Given the description of an element on the screen output the (x, y) to click on. 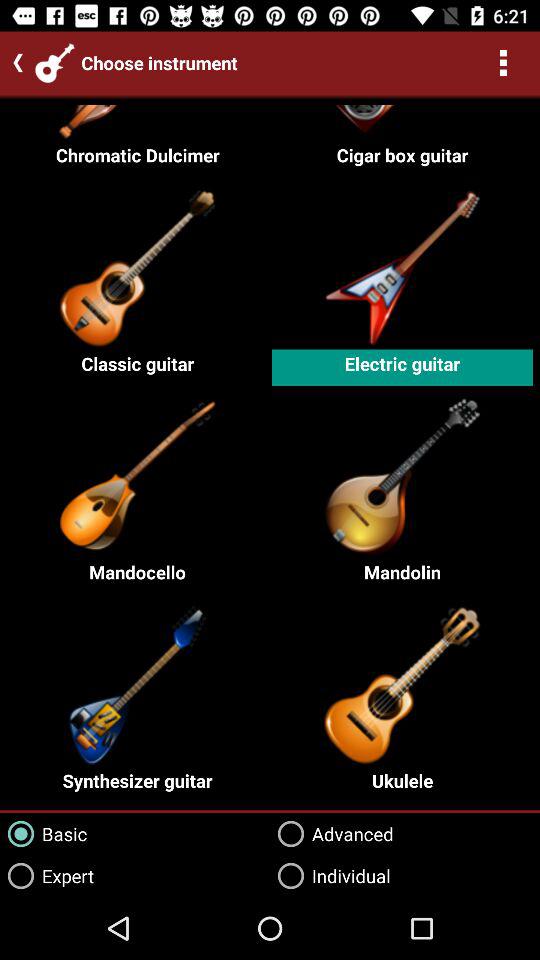
launch the icon to the right of expert item (331, 834)
